Given the description of an element on the screen output the (x, y) to click on. 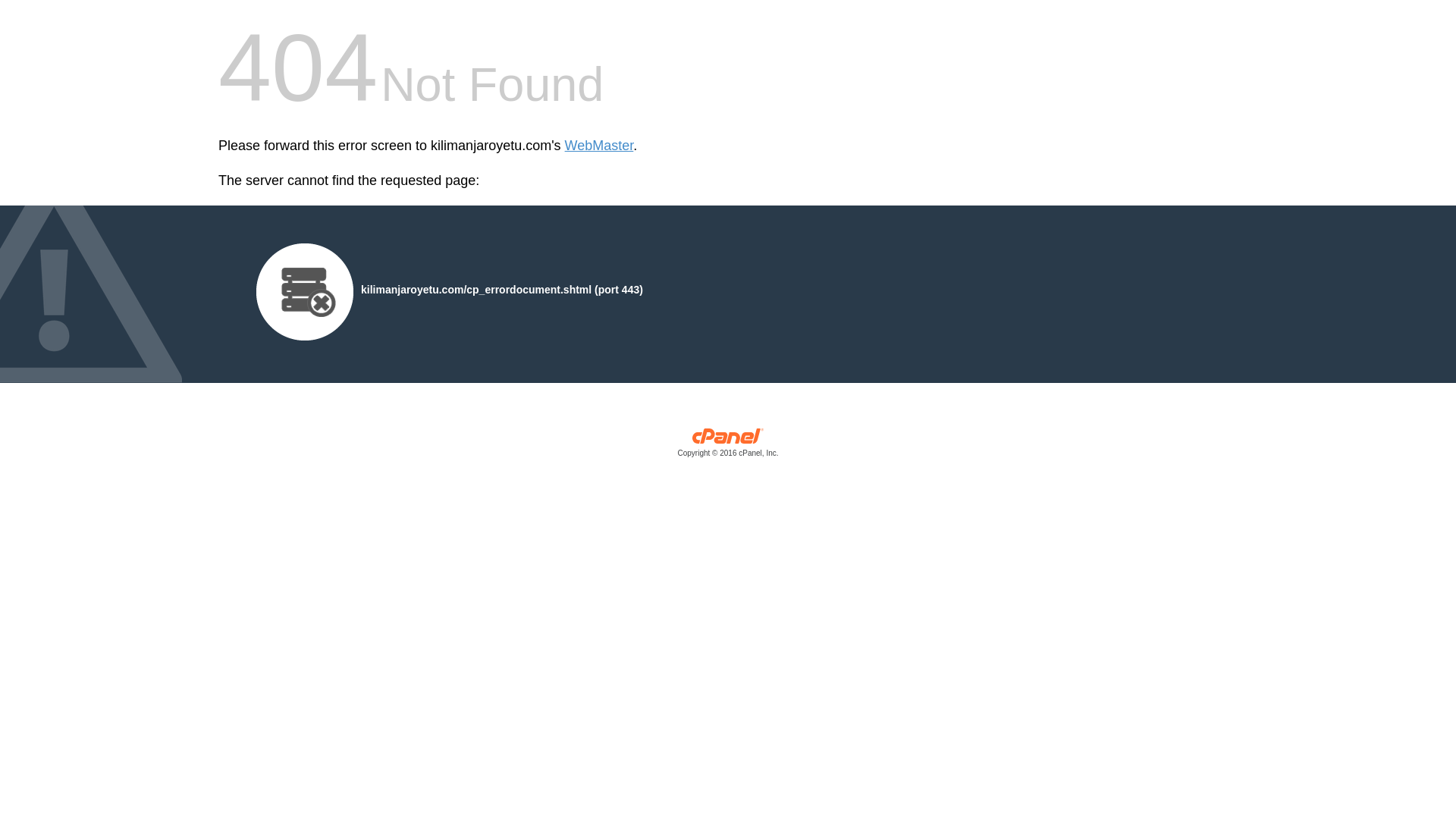
WebMaster (598, 145)
cPanel, Inc. (727, 446)
